Given the description of an element on the screen output the (x, y) to click on. 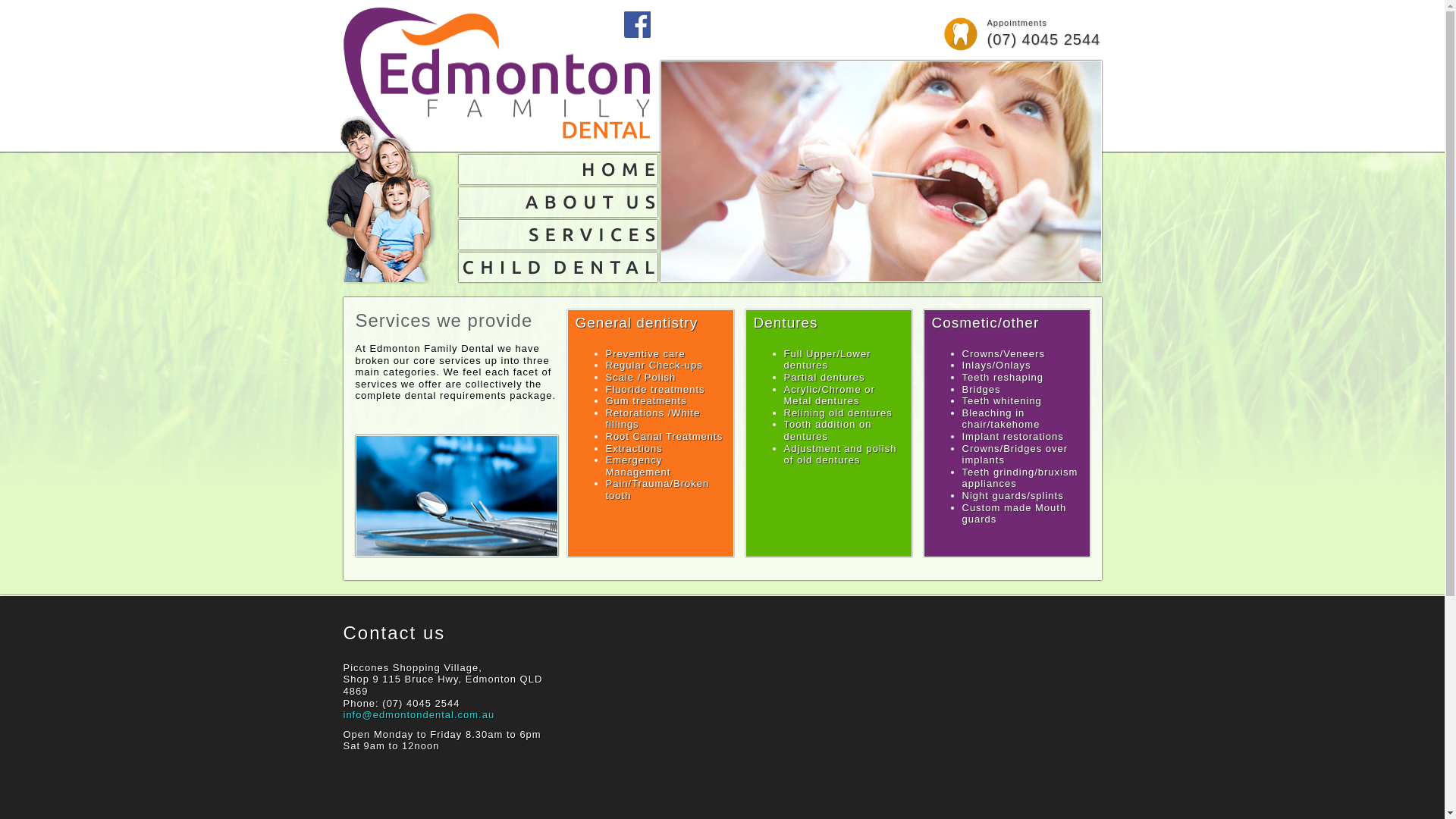
1 Element type: hover (441, 171)
info@edmontondental.com.au Element type: text (418, 714)
2 Element type: hover (881, 171)
